Given the description of an element on the screen output the (x, y) to click on. 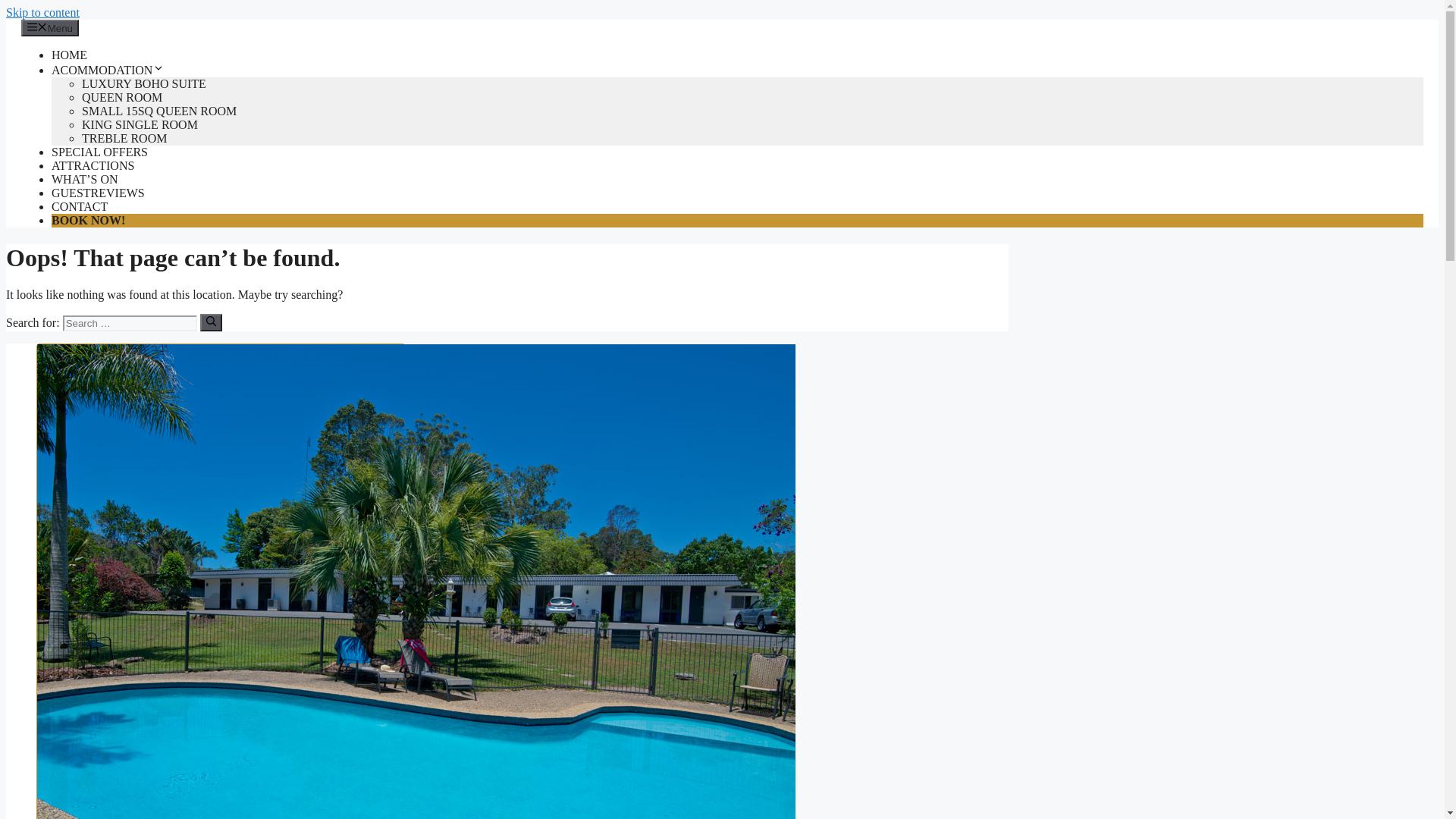
LUXURY BOHO SUITE Element type: text (143, 83)
QUEEN ROOM Element type: text (121, 97)
Skip to content Element type: text (42, 12)
ACOMMODATION Element type: text (107, 69)
HOME Element type: text (69, 54)
TREBLE ROOM Element type: text (123, 137)
KING SINGLE ROOM Element type: text (139, 124)
Search for: Element type: hover (129, 323)
BOOK NOW! Element type: text (88, 219)
CONTACT Element type: text (79, 206)
GUESTREVIEWS Element type: text (97, 192)
Menu Element type: text (49, 27)
ATTRACTIONS Element type: text (92, 165)
SPECIAL OFFERS Element type: text (99, 151)
SMALL 15SQ QUEEN ROOM Element type: text (158, 110)
